Given the description of an element on the screen output the (x, y) to click on. 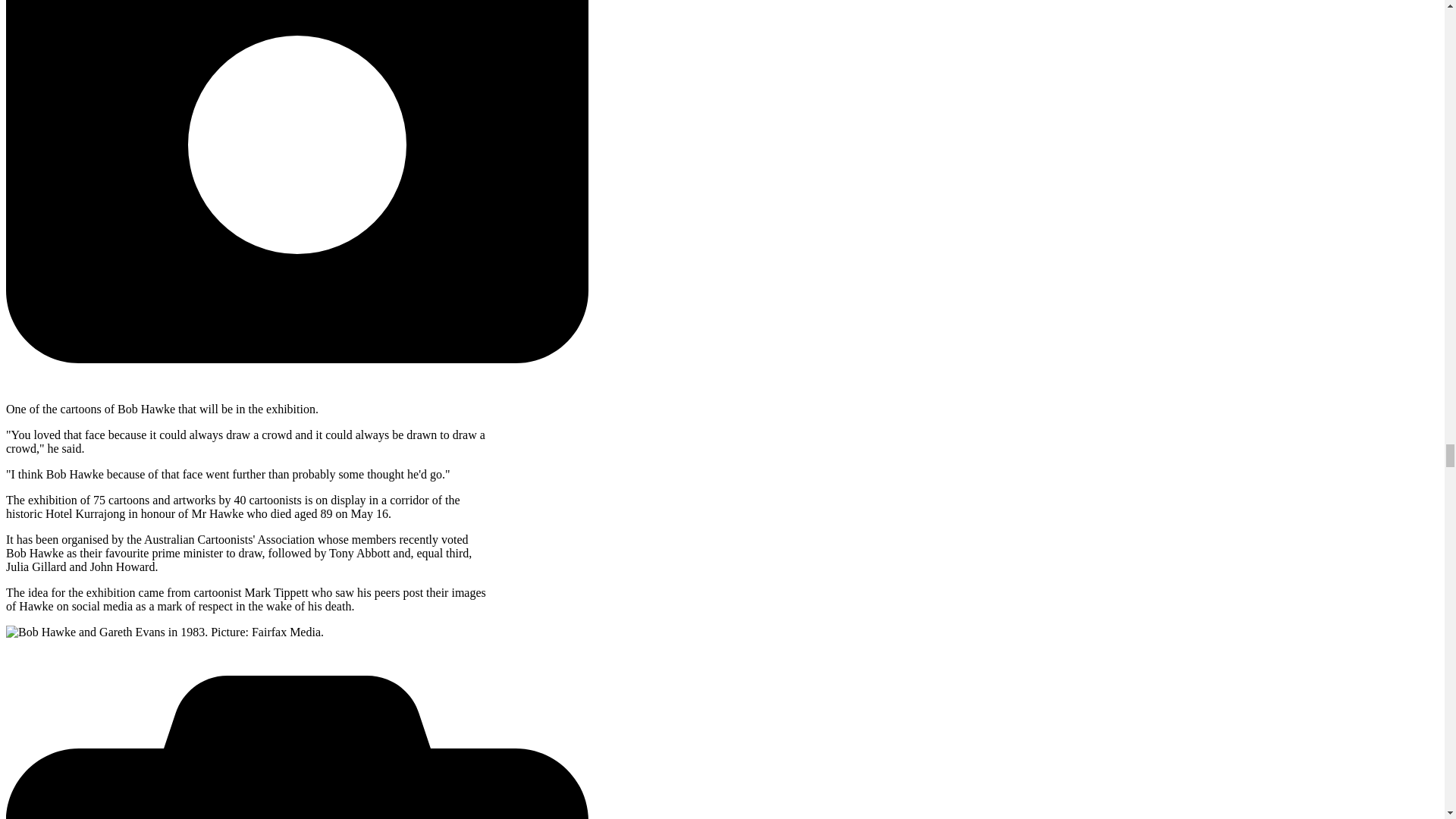
Bob Hawke and Gareth Evans in 1983. Picture: Fairfax Media. (164, 632)
